Given the description of an element on the screen output the (x, y) to click on. 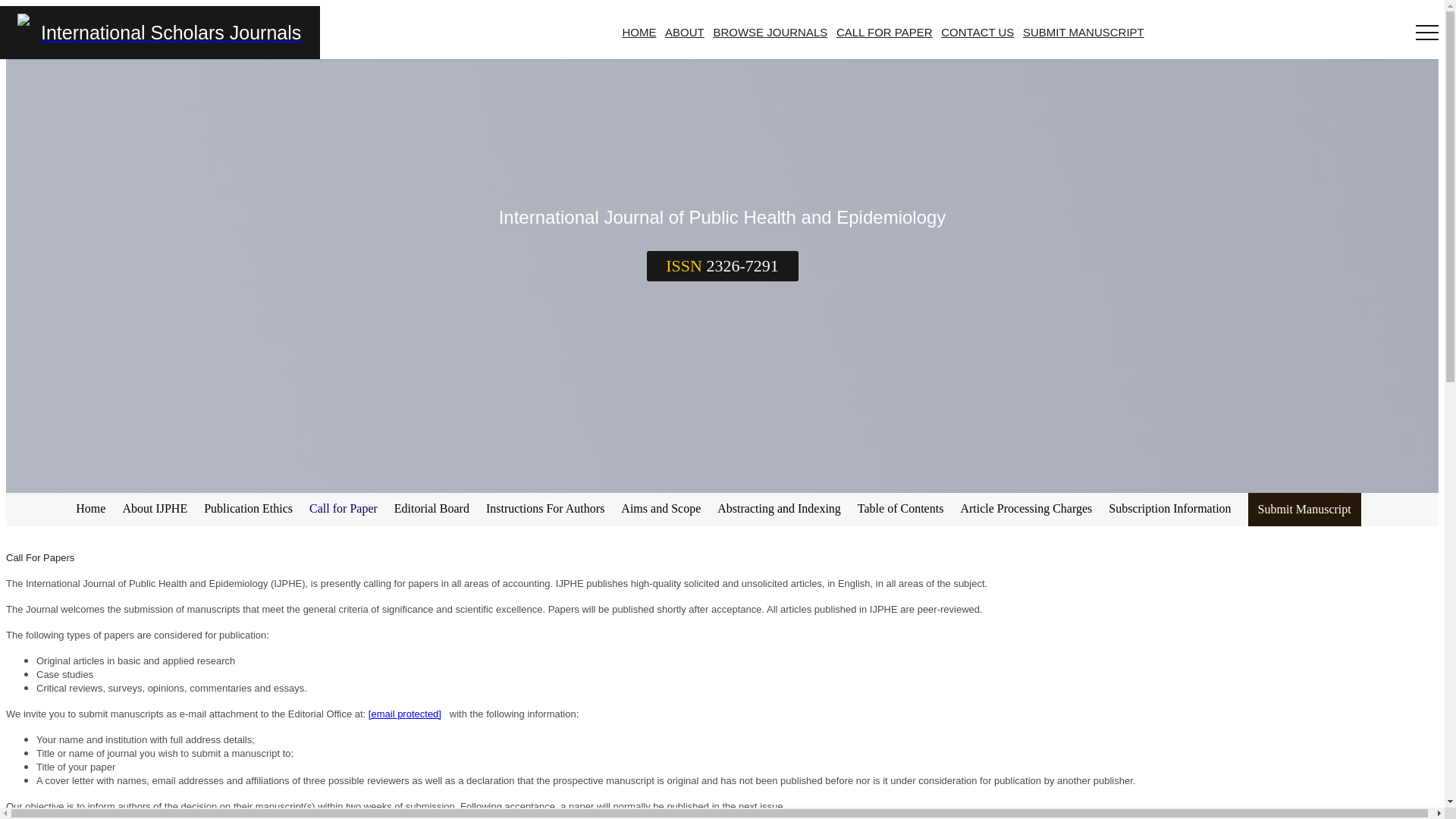
CONTACT US (976, 31)
Aims and Scope (665, 508)
SUBMIT MANUSCRIPT (1083, 31)
Article Processing Charges (1029, 508)
Publication Ethics (252, 508)
CALL FOR PAPER (884, 31)
Editorial Board (436, 508)
Subscription Information (1174, 508)
Call for Paper (347, 508)
Abstracting and Indexing (783, 508)
Home (95, 508)
International Scholars Journals (160, 31)
Instructions For Authors (549, 508)
Submit Manuscript (1304, 509)
ABOUT (684, 31)
